Given the description of an element on the screen output the (x, y) to click on. 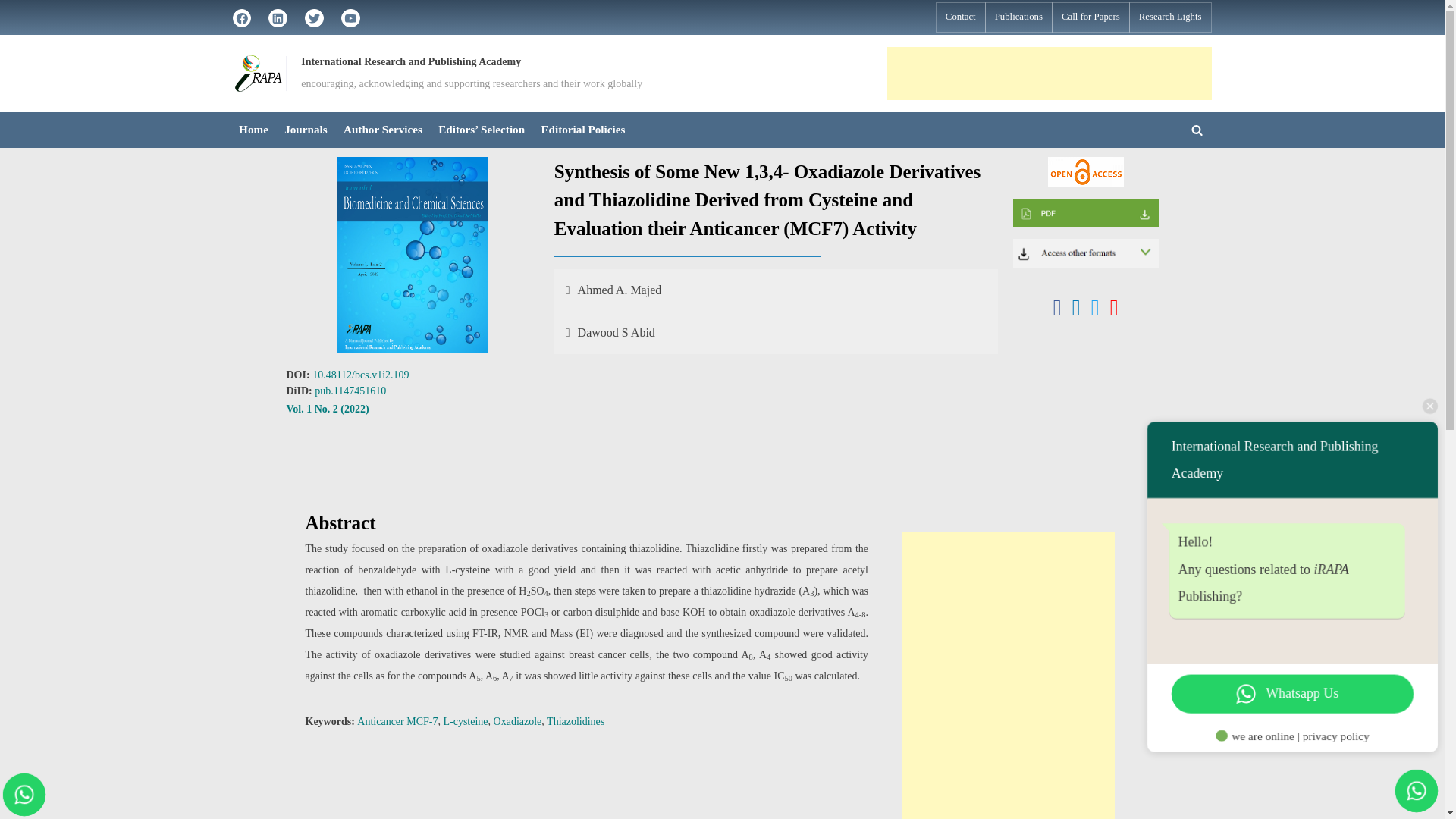
Research Lights (1170, 17)
Author Services (382, 129)
Toggle search form (1196, 129)
Publications (1018, 17)
Editorial Policies (582, 129)
Home (253, 129)
Access JMS (1085, 253)
pub.1147451610 (349, 390)
Oxadiazole (517, 721)
Journals (306, 129)
Face Book (240, 16)
Advertisement (1048, 72)
Ahmed A. Majed (775, 290)
Thiazolidines (575, 721)
Contact (959, 17)
